Given the description of an element on the screen output the (x, y) to click on. 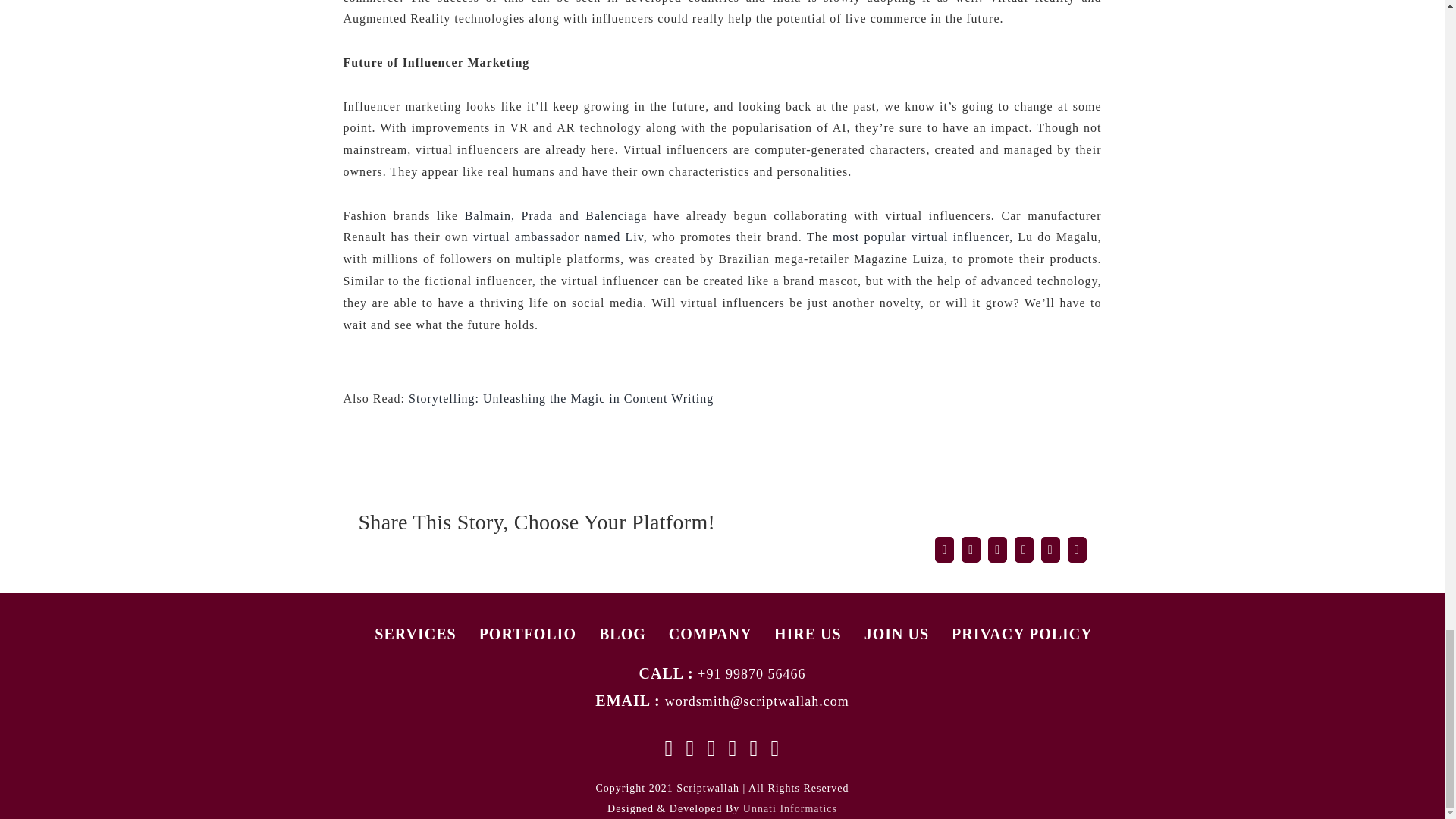
LinkedIn (997, 549)
Facebook (943, 549)
Twitter (969, 549)
Pinterest (753, 748)
Facebook (669, 748)
HIRE US (807, 633)
COMPANY (709, 633)
JOIN US (896, 633)
Email (1076, 549)
Balmain, Prada and Balenciaga (555, 215)
PORTFOLIO (527, 633)
most popular virtual influencer (920, 236)
Facebook (943, 549)
LinkedIn (774, 748)
YouTube (711, 748)
